Given the description of an element on the screen output the (x, y) to click on. 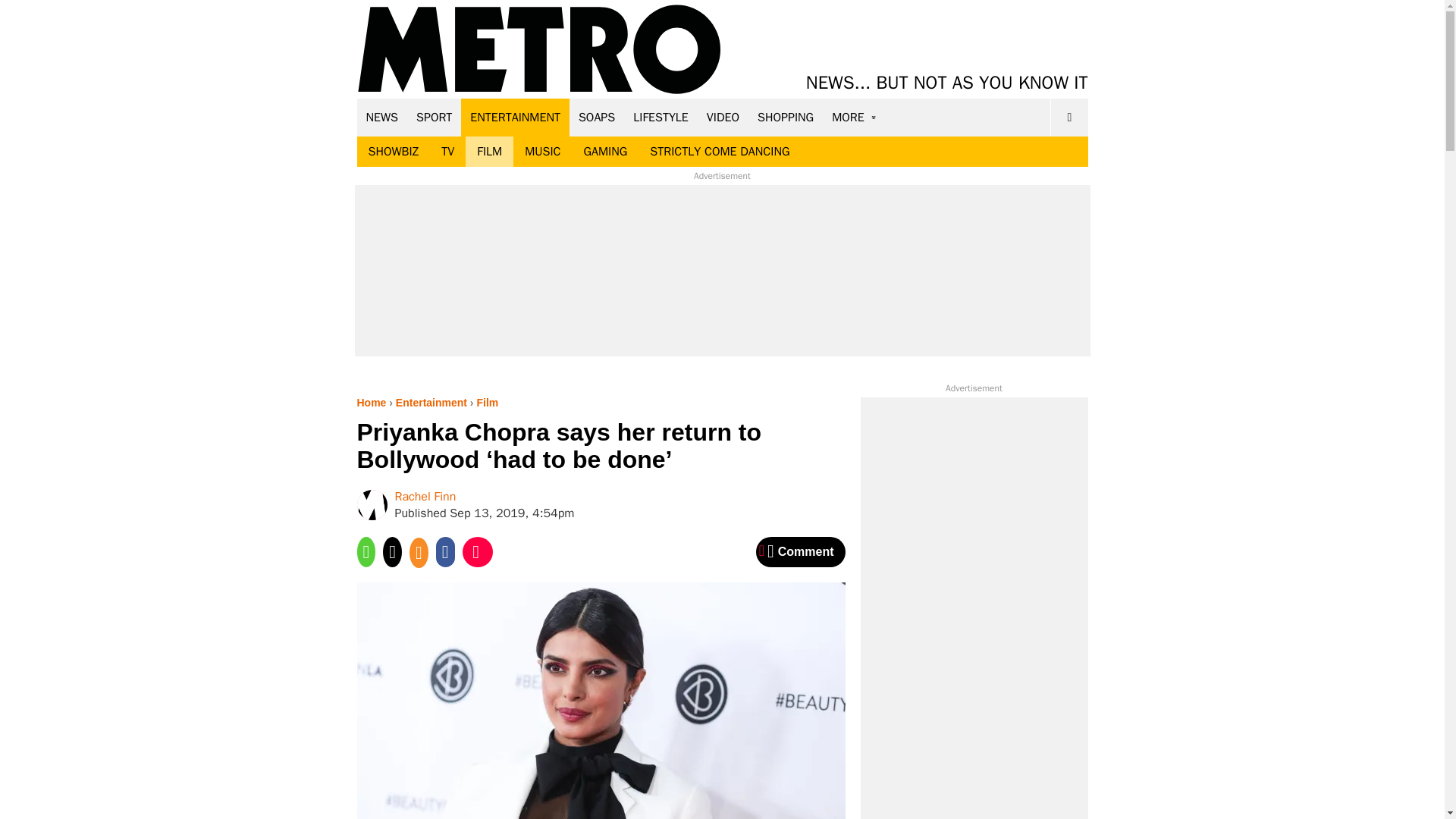
SHOWBIZ (392, 151)
SOAPS (596, 117)
ENTERTAINMENT (515, 117)
NEWS (381, 117)
TV (447, 151)
STRICTLY COME DANCING (719, 151)
Metro (539, 50)
FILM (489, 151)
LIFESTYLE (660, 117)
SPORT (434, 117)
